Given the description of an element on the screen output the (x, y) to click on. 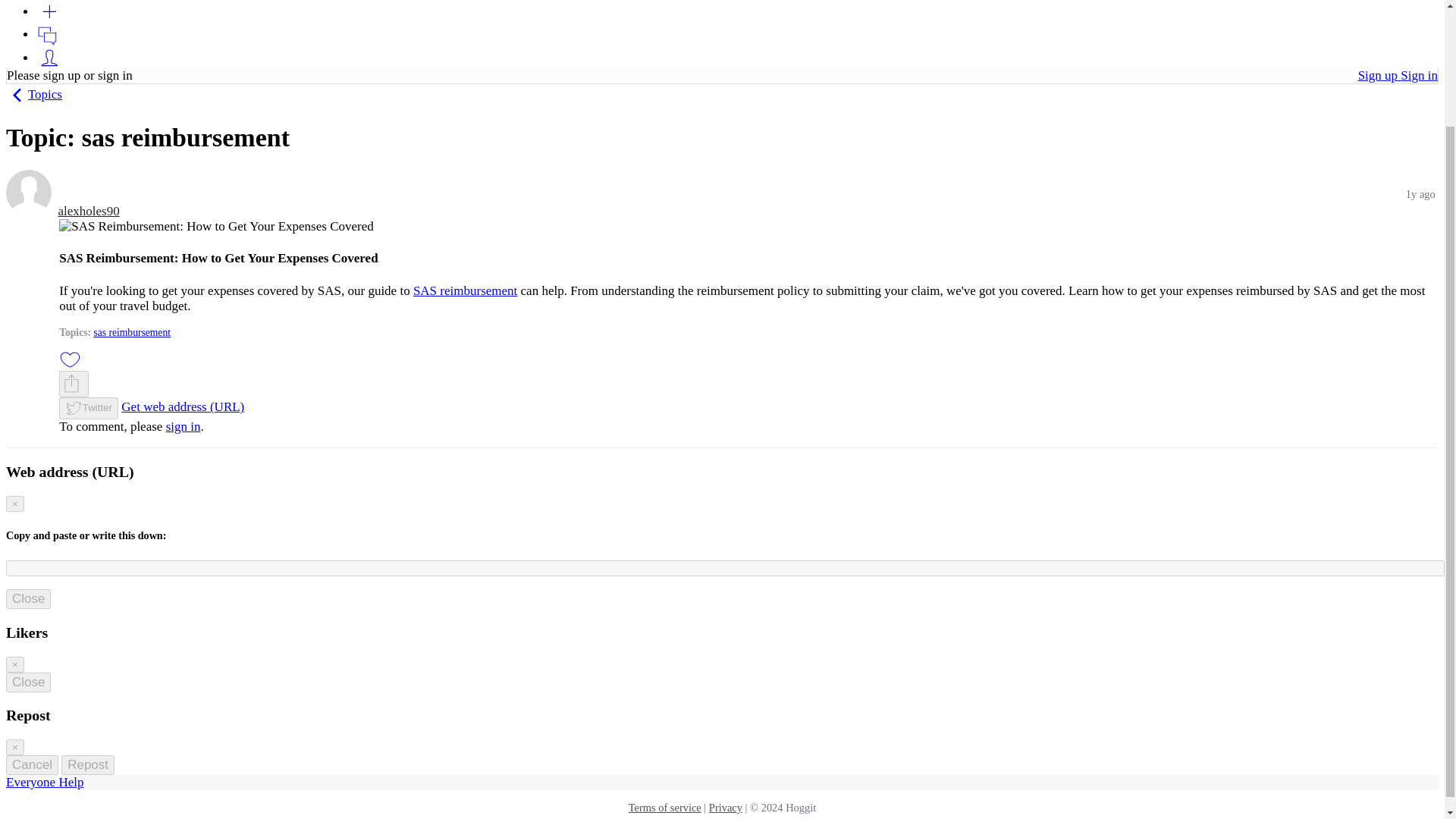
Close (27, 598)
alexholes90 (27, 192)
Sign in (1419, 74)
My Hoggit (49, 57)
Back (16, 95)
SAS Reimbursement: How to Get Your Expenses Covered (216, 226)
Like (70, 359)
sign in (182, 426)
Privacy (725, 807)
Cancel (31, 764)
